Given the description of an element on the screen output the (x, y) to click on. 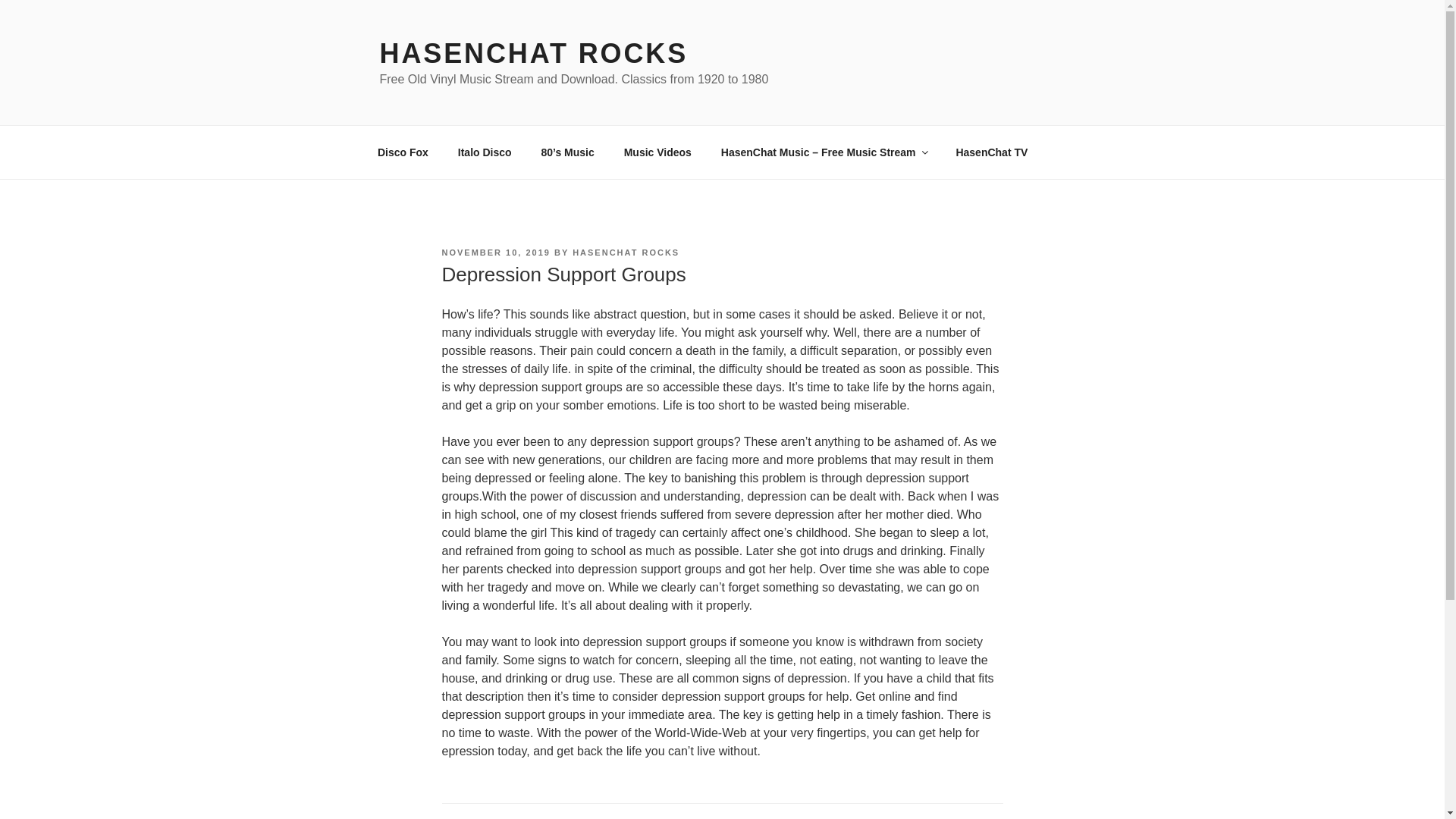
Disco Fox (402, 151)
Italo Disco (484, 151)
NOVEMBER 10, 2019 (495, 252)
HASENCHAT ROCKS (625, 252)
HASENCHAT ROCKS (532, 52)
HasenChat TV (991, 151)
Music Videos (657, 151)
